Given the description of an element on the screen output the (x, y) to click on. 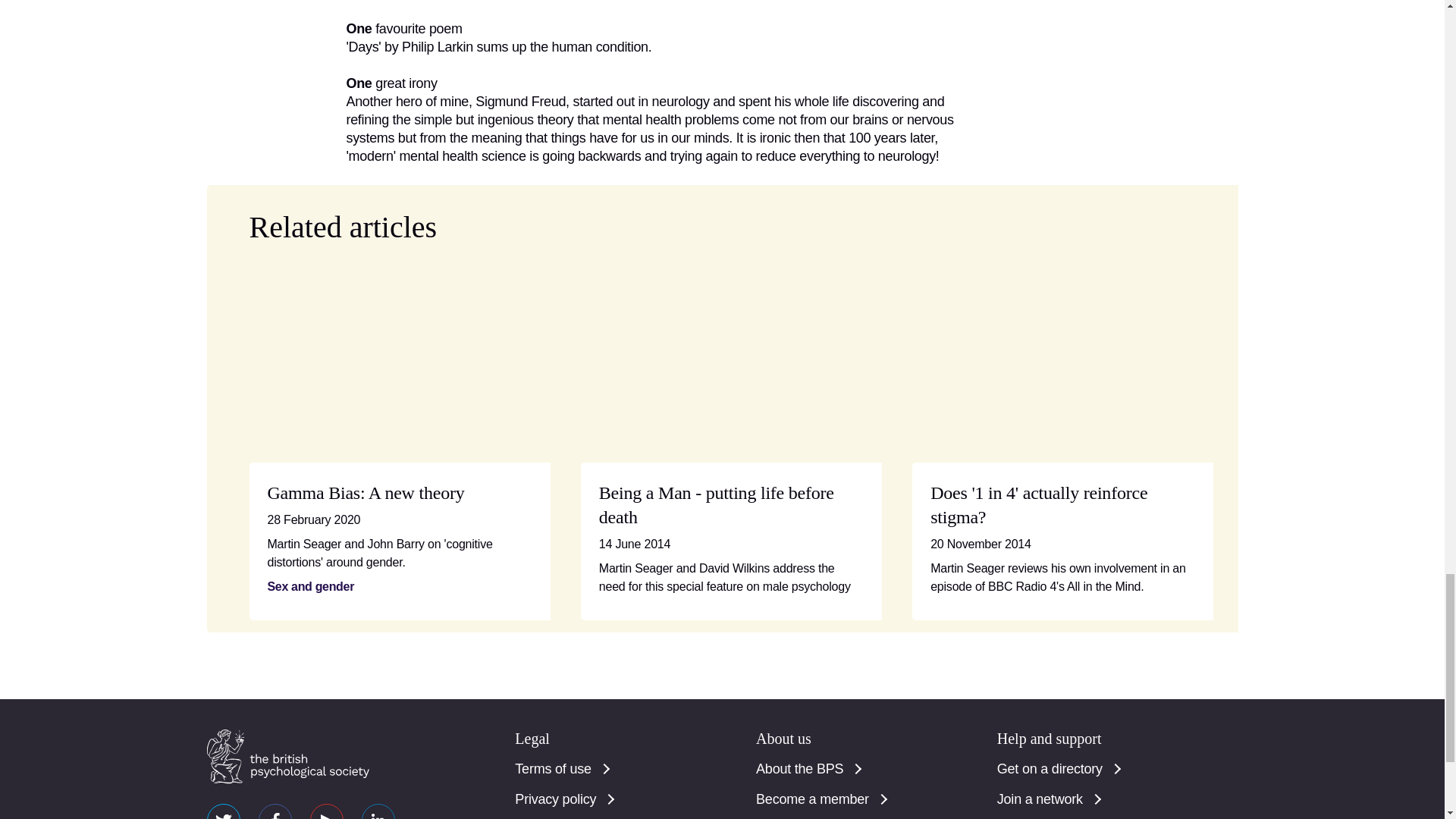
The British Psychological Society (287, 756)
